Given the description of an element on the screen output the (x, y) to click on. 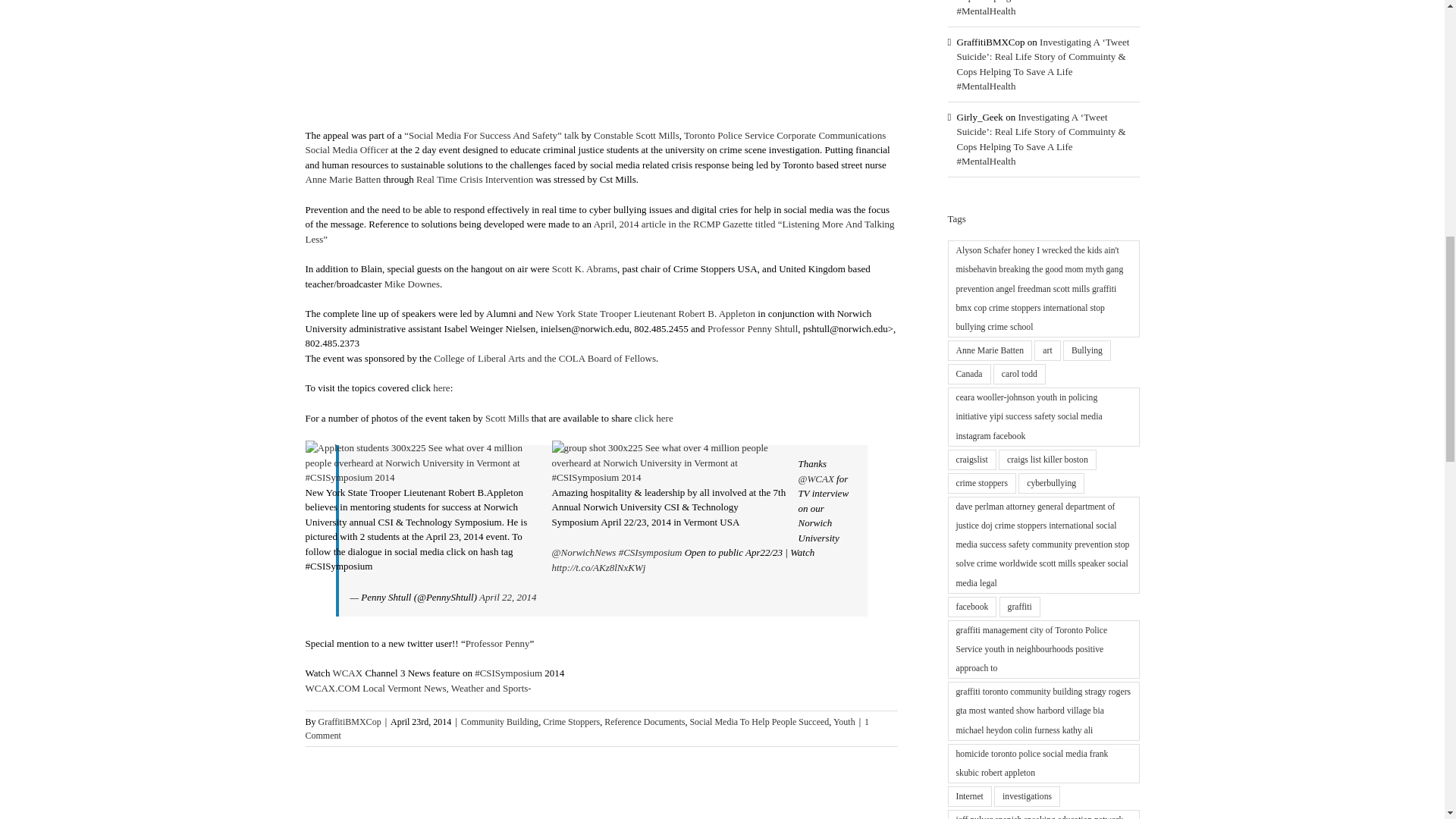
Constable Scott Mills (636, 134)
